Given the description of an element on the screen output the (x, y) to click on. 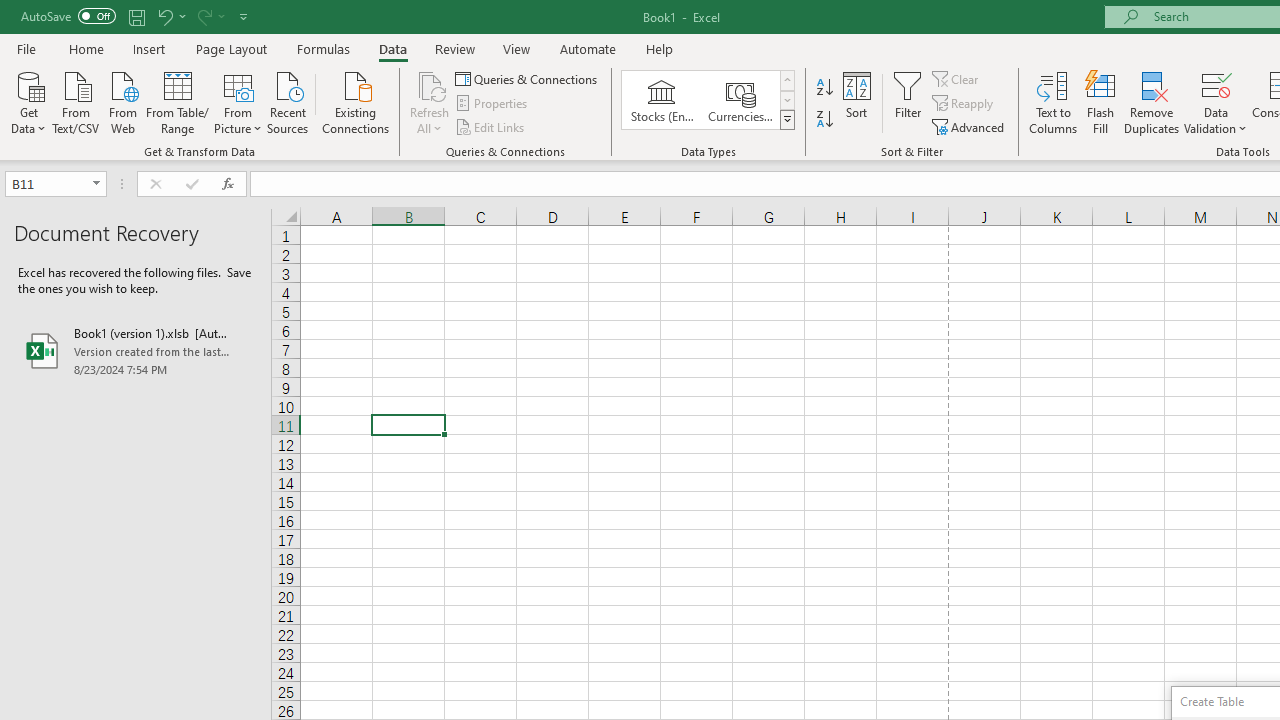
From Text/CSV (75, 101)
Data Types (786, 120)
Filter (908, 102)
Stocks (English) (662, 100)
Text to Columns... (1053, 102)
